Given the description of an element on the screen output the (x, y) to click on. 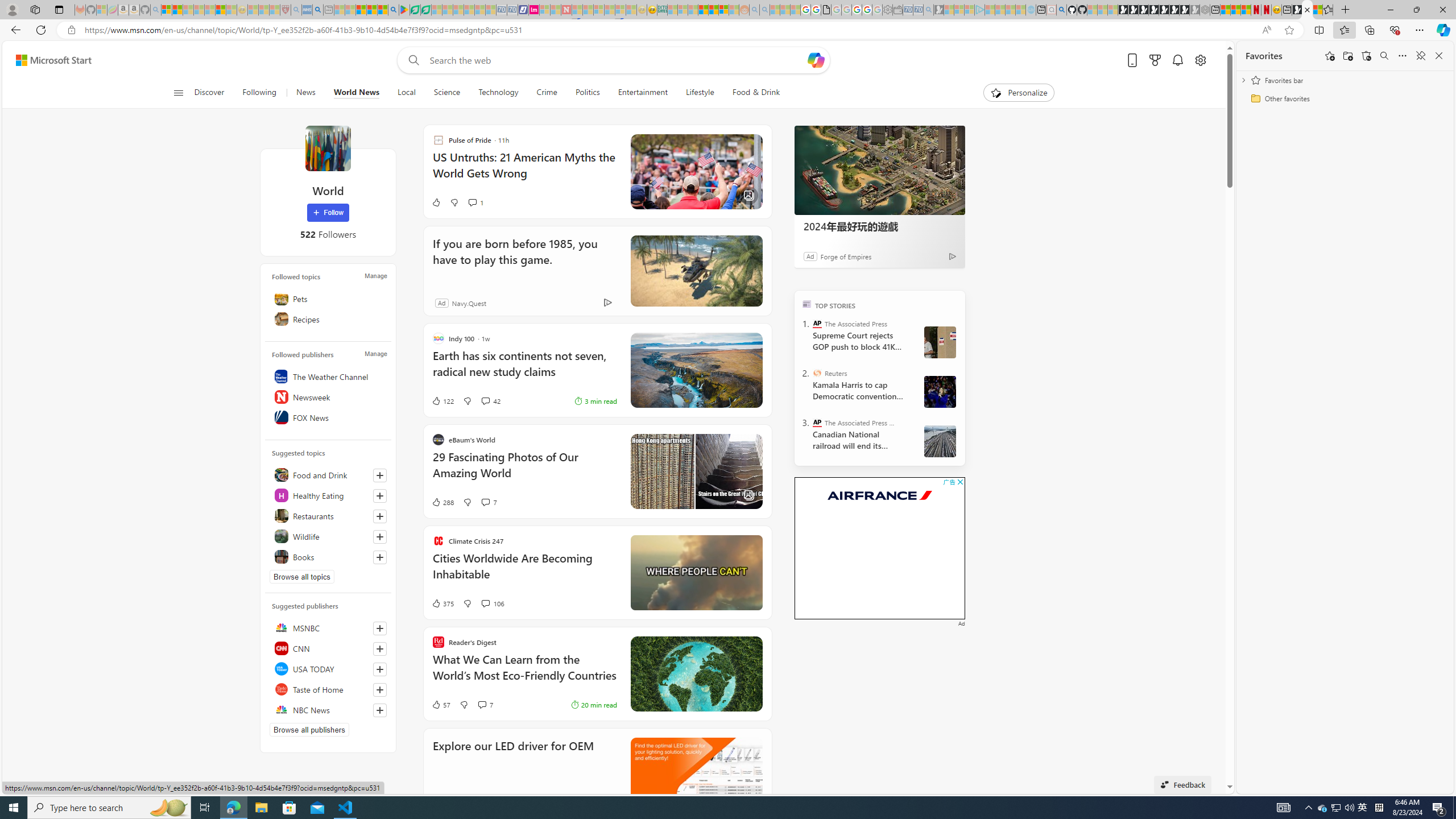
Restore deleted favorites (1366, 55)
google_privacy_policy_zh-CN.pdf (825, 9)
Food and Drink (327, 474)
The Associated Press - Business News (816, 422)
Politics (587, 92)
Bing Real Estate - Home sales and rental listings - Sleeping (928, 9)
Bluey: Let's Play! - Apps on Google Play (404, 9)
USA TODAY (327, 668)
